Given the description of an element on the screen output the (x, y) to click on. 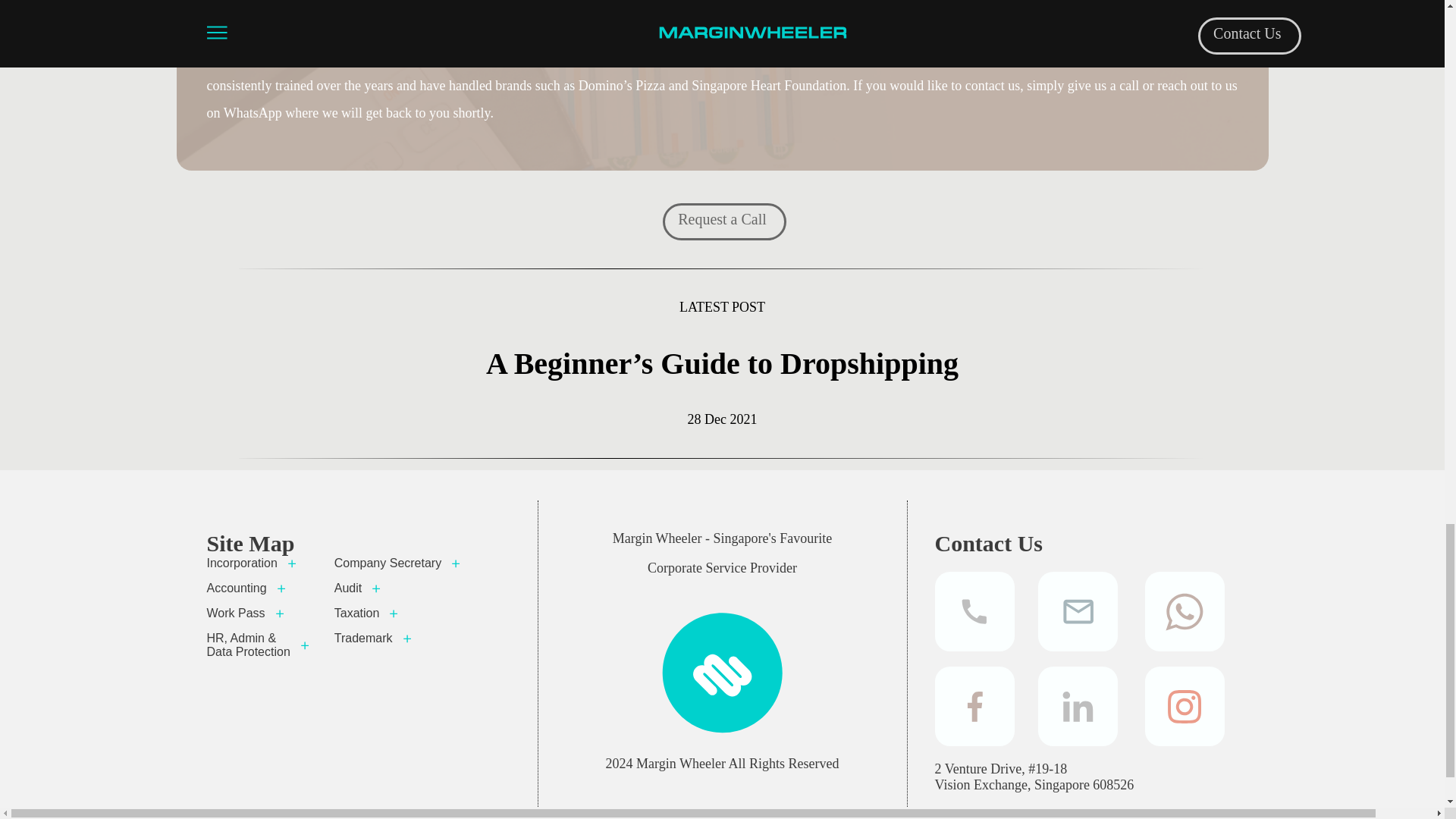
Company Secretary (398, 563)
Incorporation (258, 563)
Trademark (398, 638)
Work Pass (258, 612)
Request a Call (722, 219)
Audit (398, 588)
Taxation (398, 612)
Accounting (258, 588)
